Given the description of an element on the screen output the (x, y) to click on. 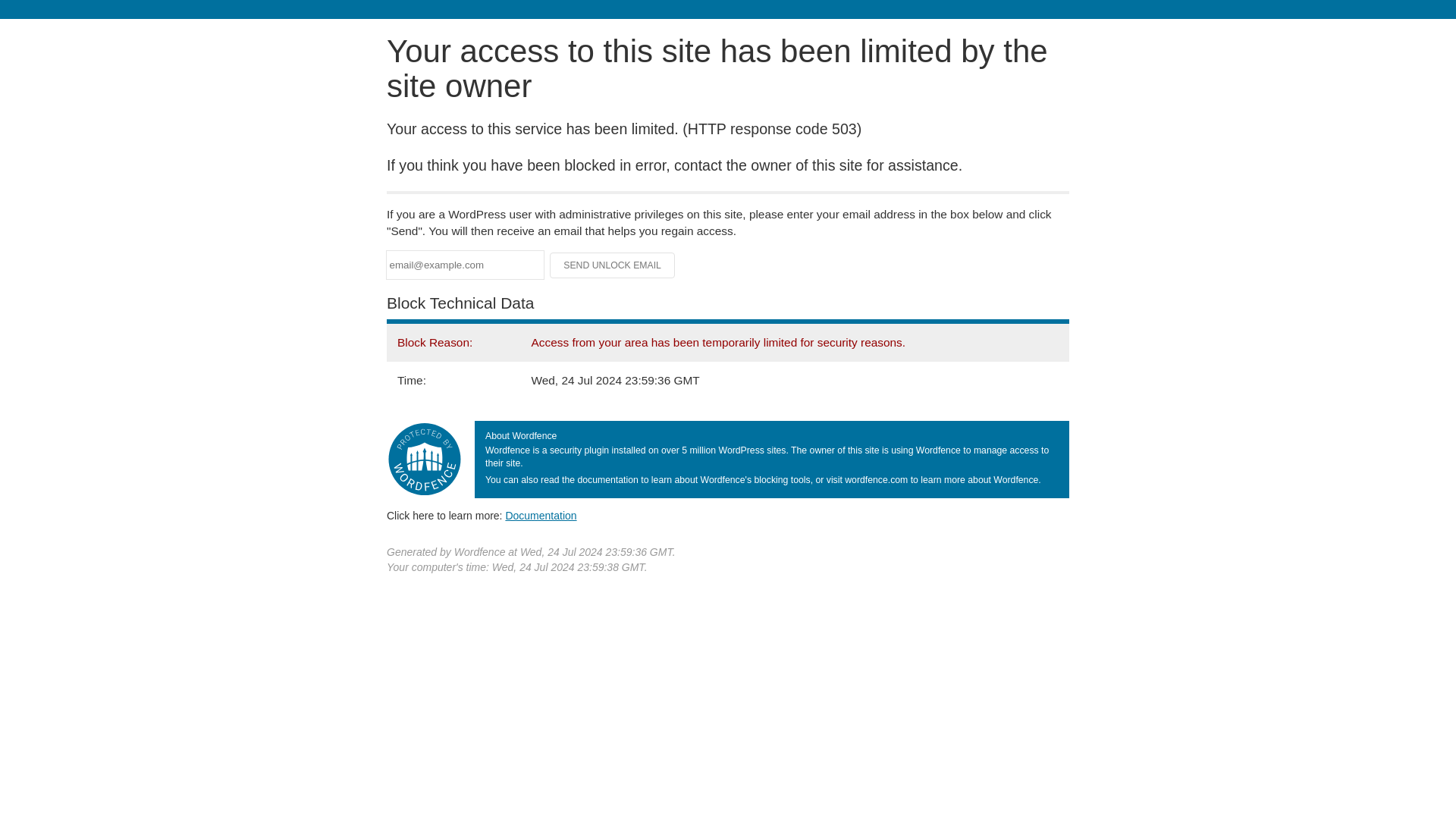
Documentation (540, 515)
Send Unlock Email (612, 265)
Send Unlock Email (612, 265)
